Given the description of an element on the screen output the (x, y) to click on. 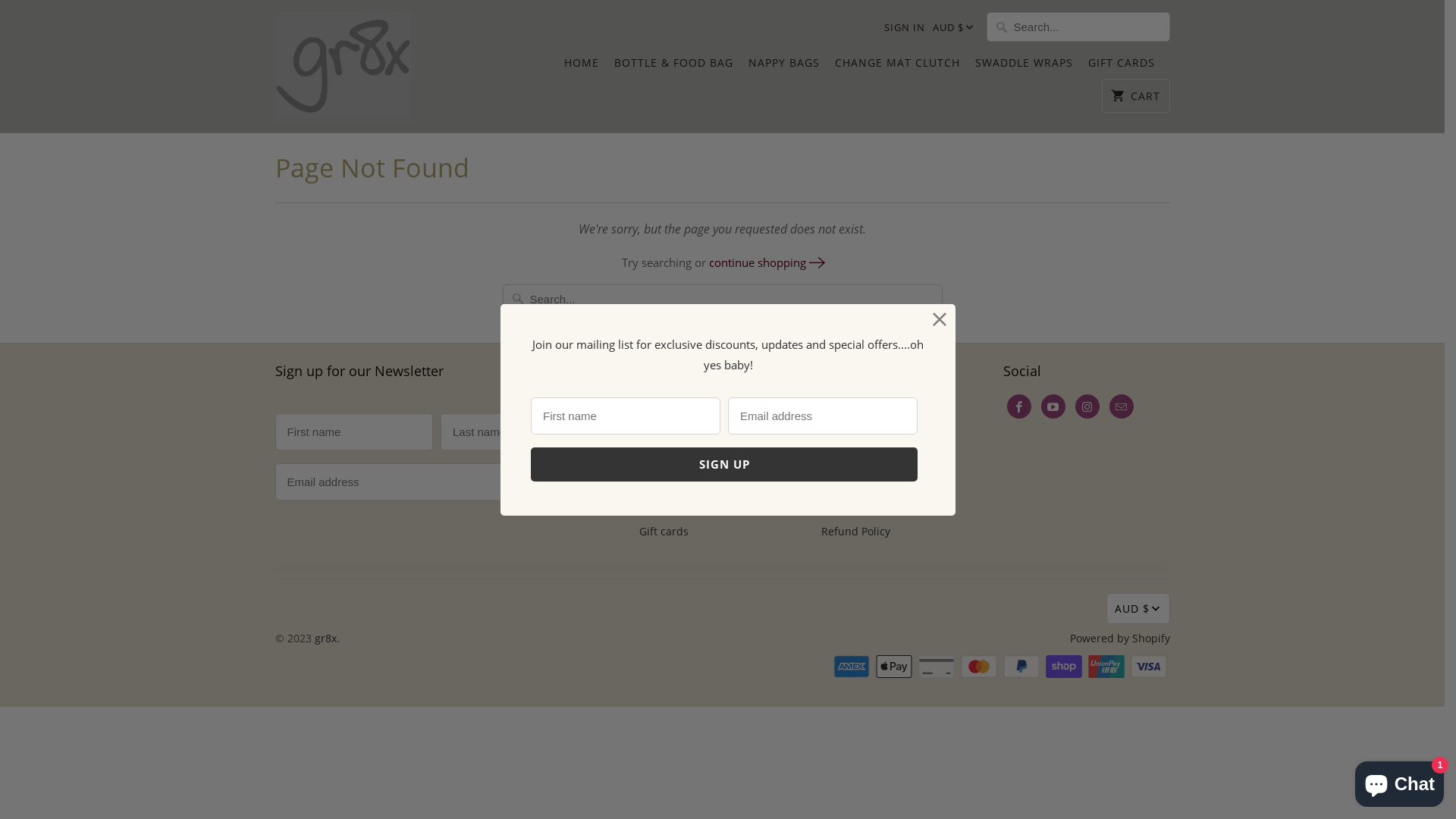
continue shopping Element type: text (765, 261)
VUV Element type: text (1156, 392)
YER Element type: text (1156, 569)
BWP Element type: text (969, 658)
TWD Element type: text (1156, 155)
BDT Element type: text (969, 435)
USD Element type: text (1156, 273)
Customer Care Element type: text (858, 453)
gr8x Element type: hover (342, 66)
UGX Element type: text (1156, 244)
XOF Element type: text (1156, 510)
WST Element type: text (1156, 421)
BBD Element type: text (969, 398)
THB Element type: text (1156, 37)
XPF Element type: text (1156, 540)
GIFT CARDS Element type: text (1120, 66)
BGN Element type: text (969, 472)
Wholesale Enquiry Element type: text (867, 402)
Refund Policy Element type: text (854, 531)
Nappy bags Element type: text (668, 453)
SIGN IN Element type: text (904, 26)
Terms and Conditions Element type: text (876, 479)
Swaddle Wraps Element type: text (677, 505)
BND Element type: text (969, 546)
AMD Element type: text (969, 175)
TZS Element type: text (1156, 185)
ALL Element type: text (969, 137)
AED Element type: text (969, 63)
BIF Element type: text (969, 509)
TTD Element type: text (1156, 126)
TOP Element type: text (1156, 96)
AUD $ Element type: text (949, 27)
CART Element type: text (1135, 95)
BOTTLE & FOOD BAG Element type: text (673, 66)
UAH Element type: text (1156, 214)
Change Mat Clutch Element type: text (686, 479)
gr8x Element type: text (324, 637)
BSD Element type: text (969, 621)
Shopify online store chat Element type: hover (1399, 780)
AZN Element type: text (969, 323)
HOME Element type: text (581, 66)
gr8x on Facebook Element type: hover (1019, 406)
XCD Element type: text (1156, 480)
Terms of Service Element type: text (862, 505)
AUD Element type: text (969, 249)
AUD $ Element type: text (1137, 608)
Gift cards Element type: text (662, 531)
UYU Element type: text (1156, 303)
BAM Element type: text (969, 360)
Close Element type: hover (939, 319)
UZS Element type: text (1156, 333)
BOB Element type: text (969, 583)
gr8x on YouTube Element type: hover (1052, 406)
SWADDLE WRAPS Element type: text (1024, 66)
Powered by Shopify Element type: text (1119, 637)
AWG Element type: text (969, 286)
CDF Element type: text (969, 769)
CAD Element type: text (969, 732)
BZD Element type: text (969, 695)
VND Element type: text (1156, 362)
AFN Element type: text (969, 100)
XAF Element type: text (1156, 451)
ANG Element type: text (969, 212)
gr8x on Instagram Element type: hover (1087, 406)
Home Element type: text (653, 402)
NAPPY BAGS Element type: text (783, 66)
Bottle & Food Bag Element type: text (683, 427)
Shipping Element type: text (843, 427)
TJS Element type: text (1156, 66)
CHANGE MAT CLUTCH Element type: text (896, 66)
Sign Up Element type: text (723, 464)
Sign Up Element type: text (556, 482)
Email gr8x Element type: hover (1120, 406)
